Given the description of an element on the screen output the (x, y) to click on. 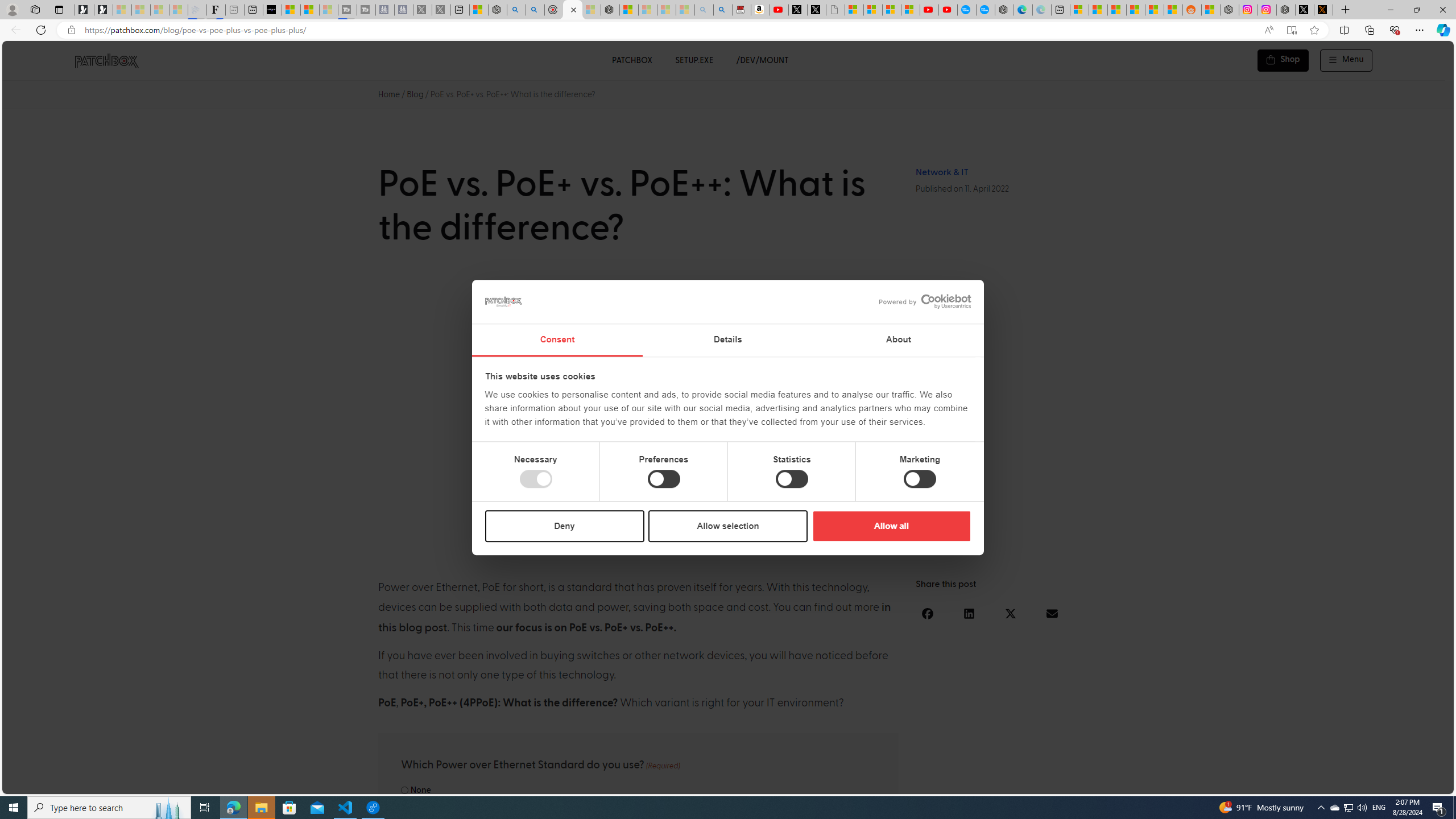
Language switcher : Croatian (1322, 782)
logo (503, 301)
Share on facebook (927, 613)
Nordace - Nordace Siena Is Not An Ordinary Backpack (609, 9)
Language switcher : Slovenian (1333, 782)
PATCHBOX - Simplify IT (106, 60)
Language switcher : Spanish (1254, 782)
